Given the description of an element on the screen output the (x, y) to click on. 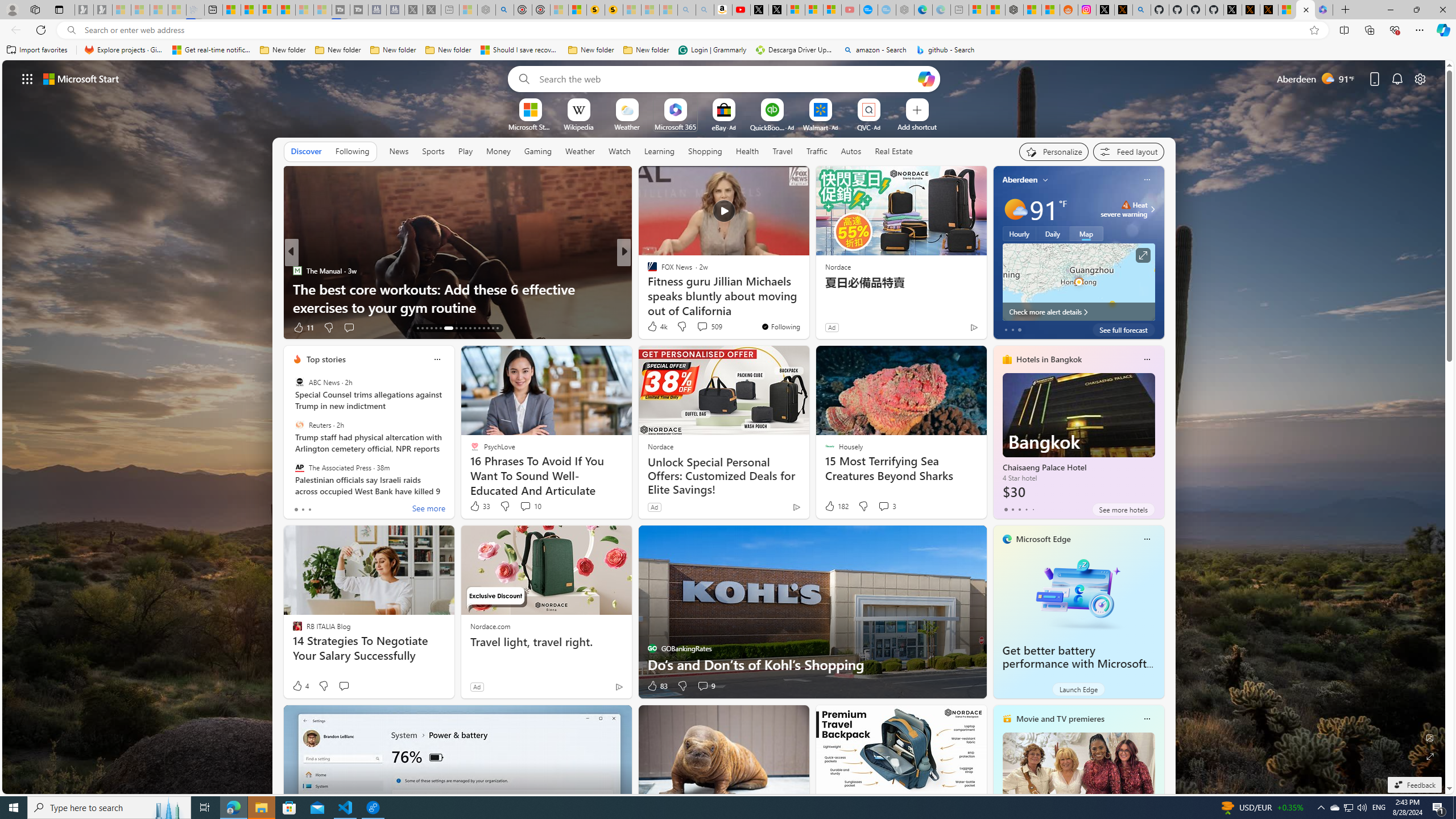
X - Sleeping (431, 9)
Live Science (647, 270)
Sports (432, 151)
Money (498, 151)
View comments 10 Comment (530, 505)
Travel light, travel right. (546, 641)
AutomationID: tab-17 (435, 328)
View comments 509 Comment (708, 326)
Search icon (70, 29)
Should I save recovered Word documents? - Microsoft Support (519, 49)
